Given the description of an element on the screen output the (x, y) to click on. 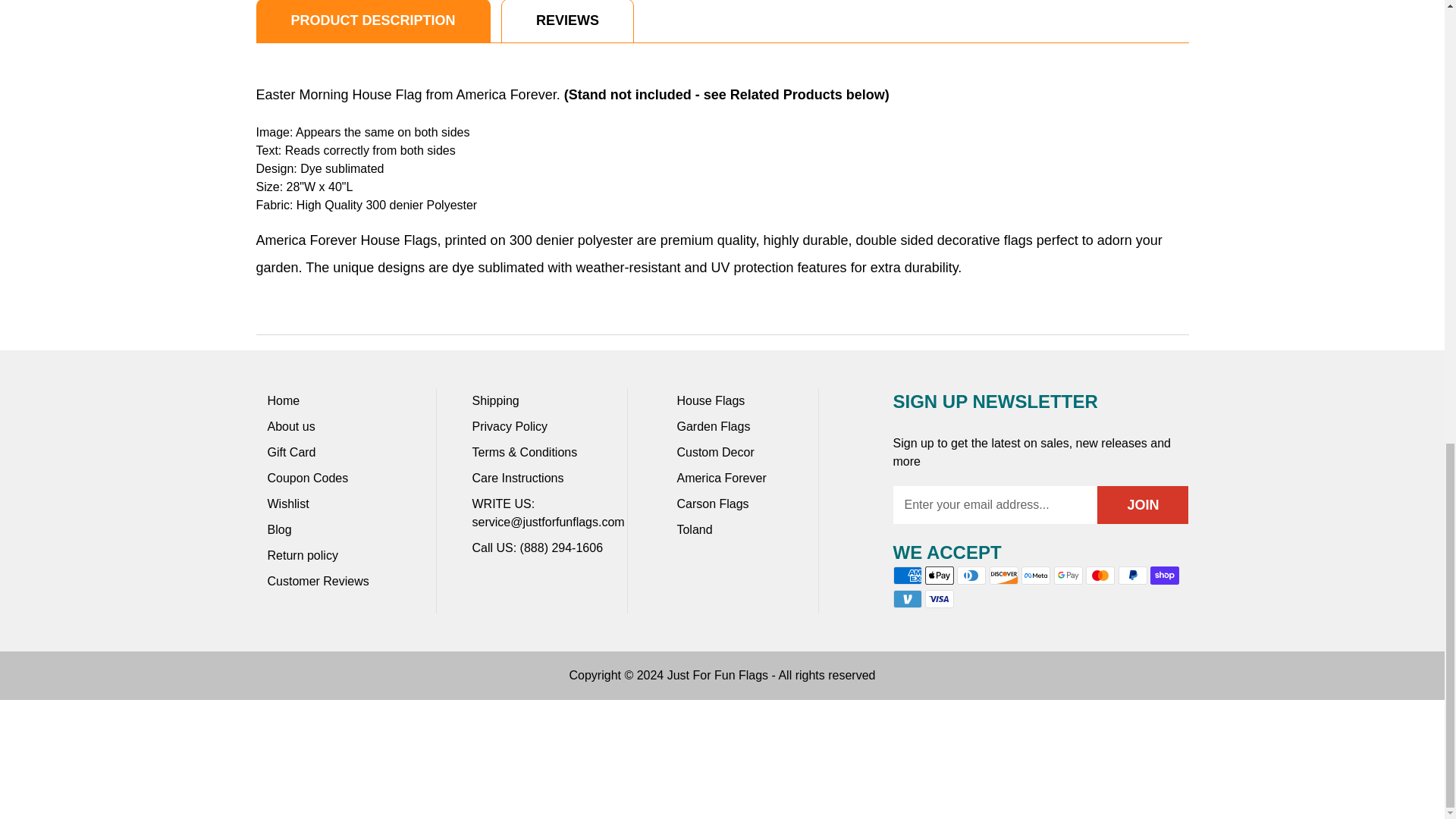
American Express (907, 575)
Venmo (907, 598)
Shop Pay (1164, 575)
Discover (1003, 575)
Google Pay (1068, 575)
Visa (938, 598)
PayPal (1132, 575)
Meta Pay (1035, 575)
Diners Club (970, 575)
Mastercard (1100, 575)
Apple Pay (938, 575)
